Given the description of an element on the screen output the (x, y) to click on. 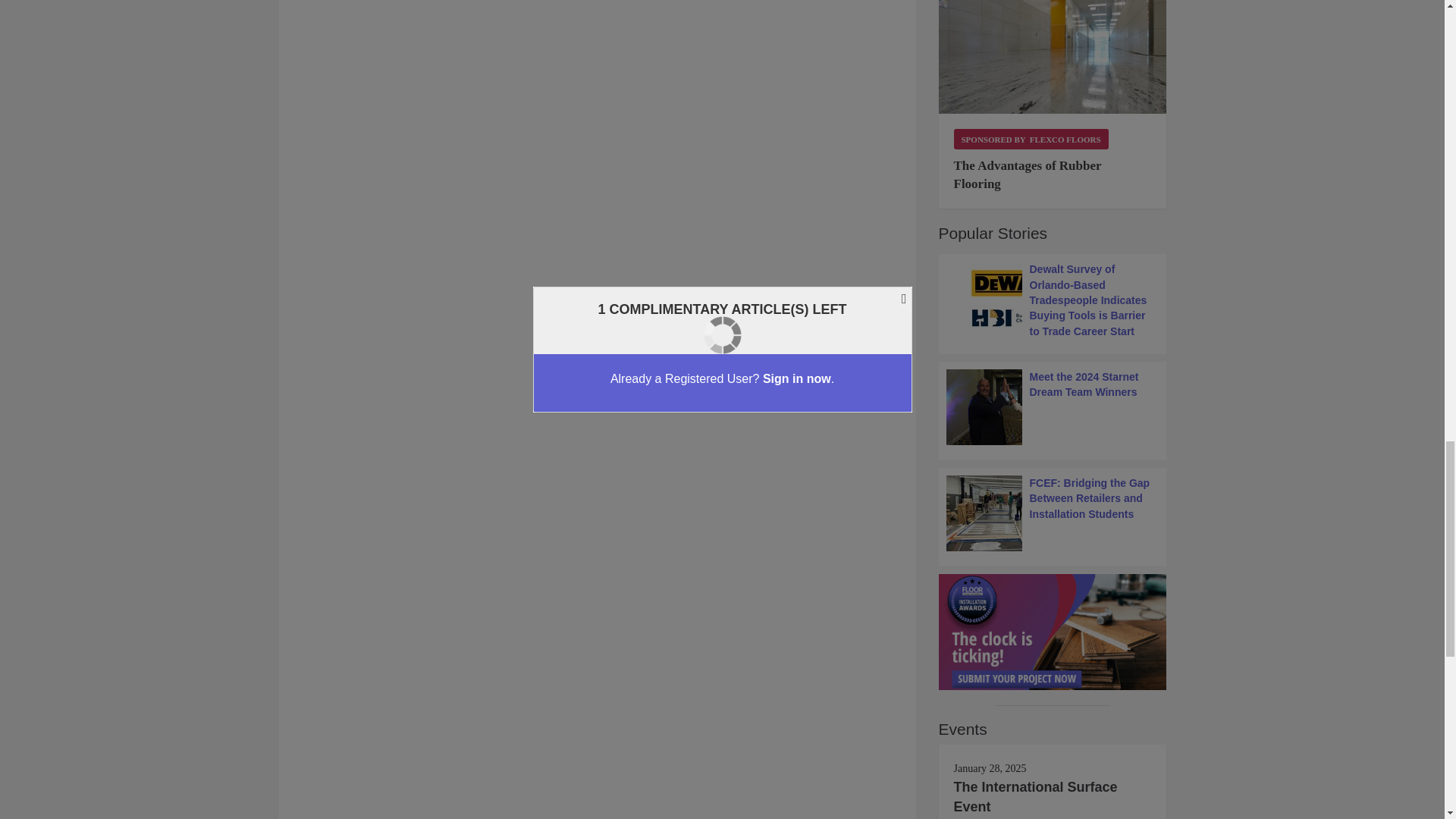
Meet the 2024 Starnet Dream Team Winners (1052, 407)
The International Surface Event (1035, 796)
rubber flooring (1052, 57)
Sponsored by Flexco Floors (1030, 138)
